Given the description of an element on the screen output the (x, y) to click on. 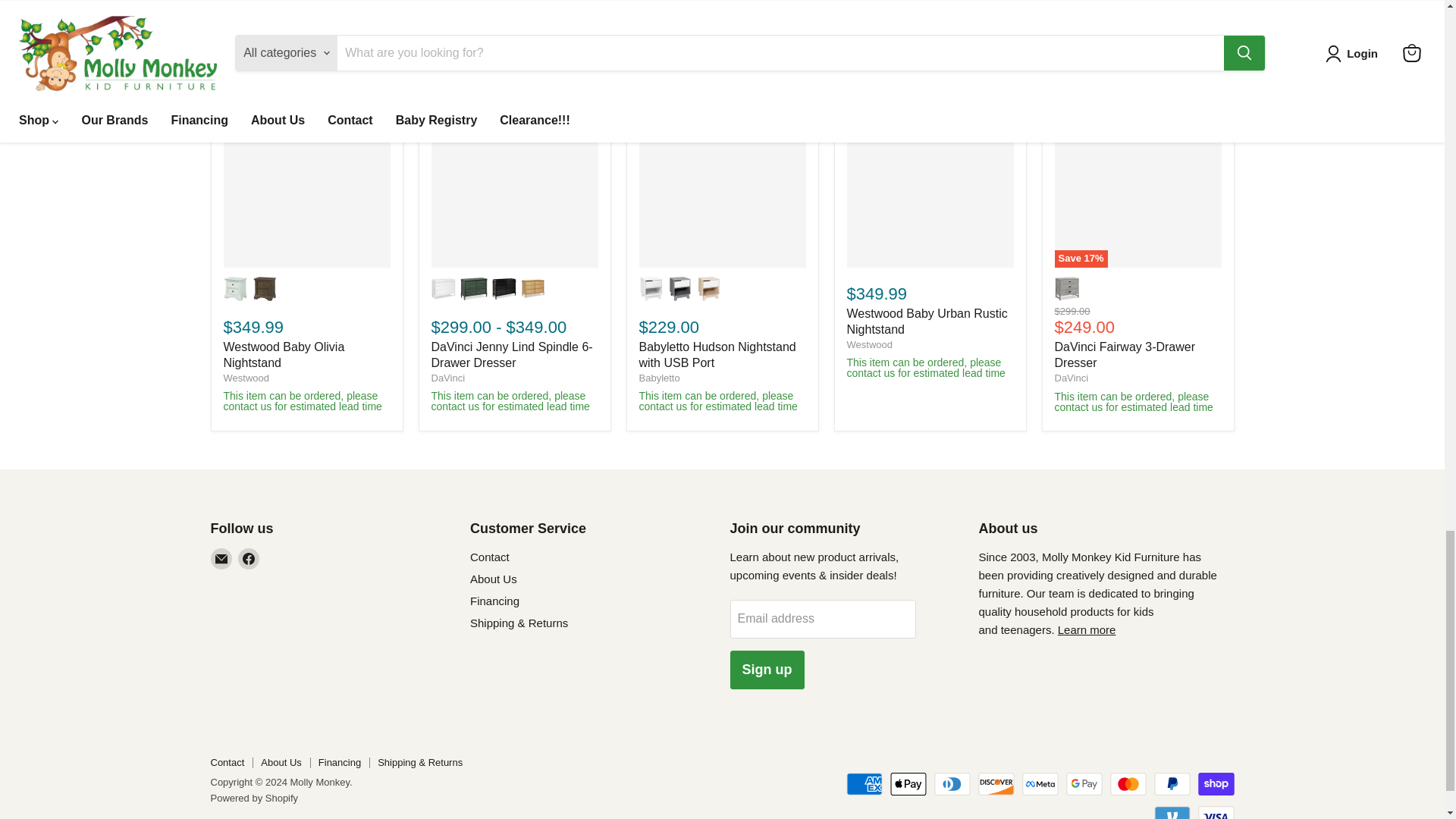
Babyletto (659, 378)
Email (221, 558)
Diners Club (952, 784)
DaVinci (447, 378)
Apple Pay (907, 784)
Westwood (868, 344)
American Express (863, 784)
Facebook (248, 558)
DaVinci (1070, 378)
Westwood (244, 378)
About Us (1087, 629)
